Given the description of an element on the screen output the (x, y) to click on. 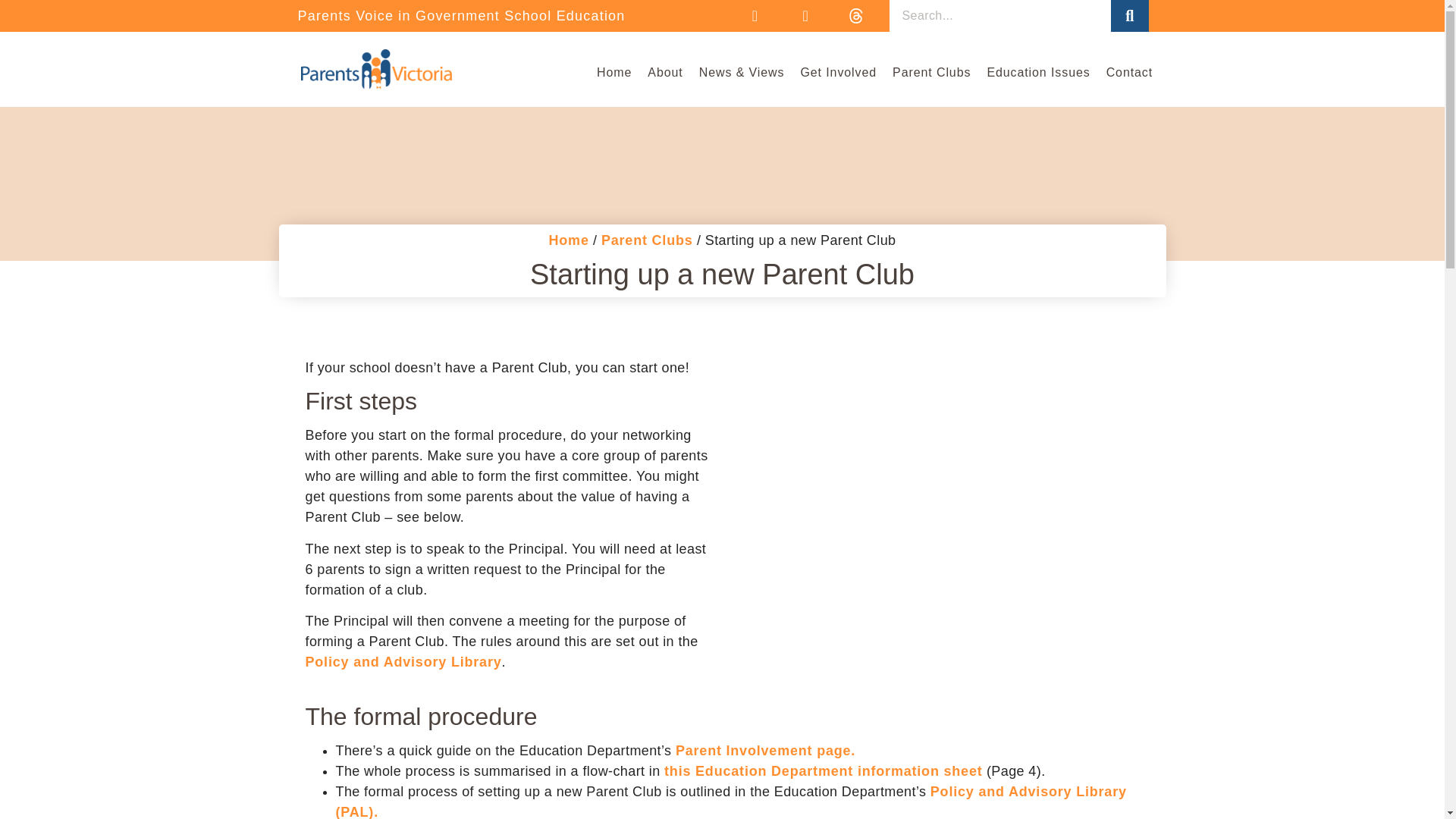
Get Involved (837, 72)
Education Issues (1037, 72)
Go to Parent Clubs. (647, 240)
About (665, 72)
Parent Clubs (931, 72)
Go to Parents Victoria. (568, 240)
Home (614, 72)
